Given the description of an element on the screen output the (x, y) to click on. 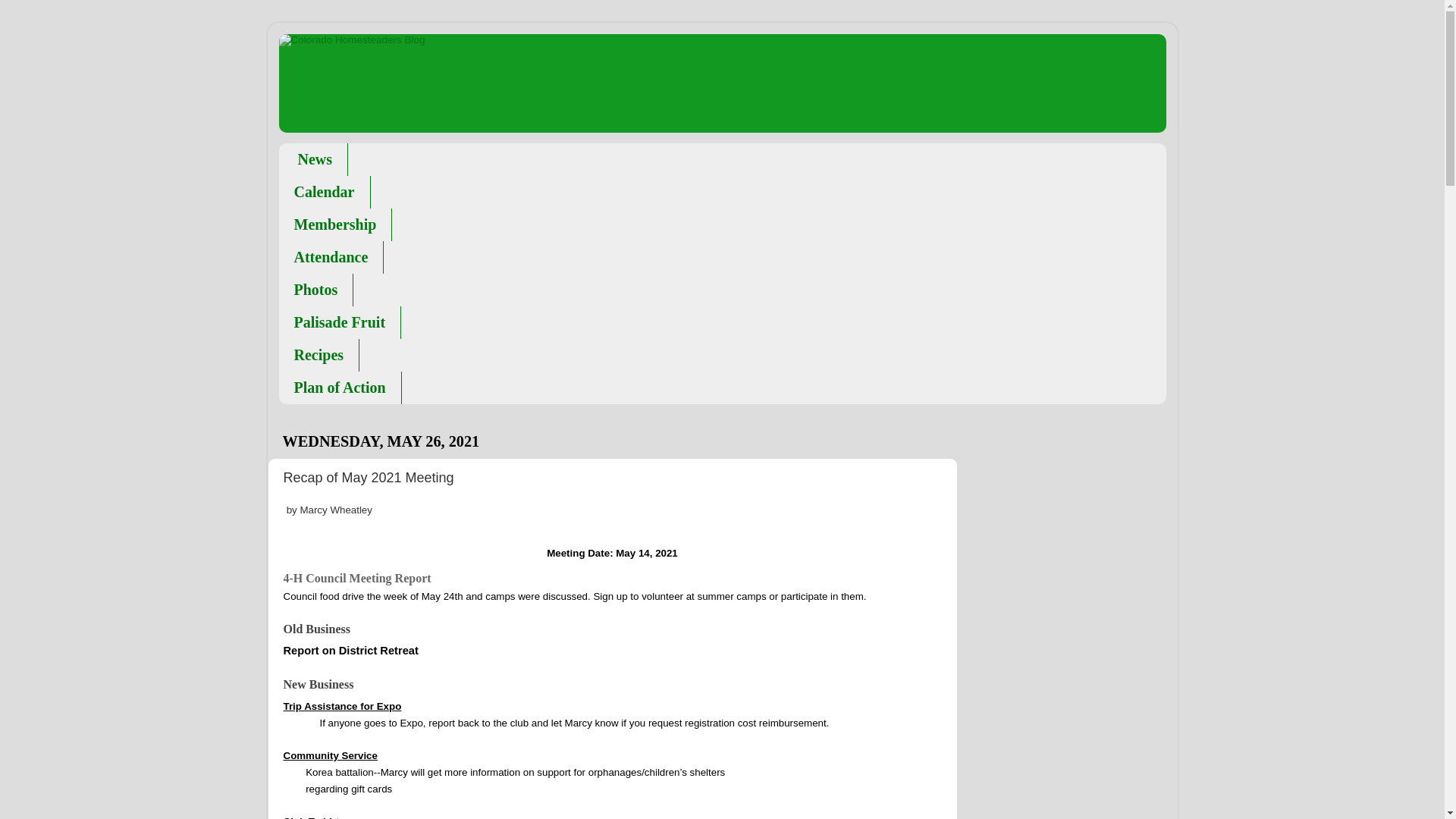
Attendance (331, 256)
Photos (316, 288)
Membership (336, 224)
News (314, 158)
Calendar (325, 192)
Palisade Fruit (340, 322)
Plan of Action (340, 387)
Recipes (319, 354)
